Given the description of an element on the screen output the (x, y) to click on. 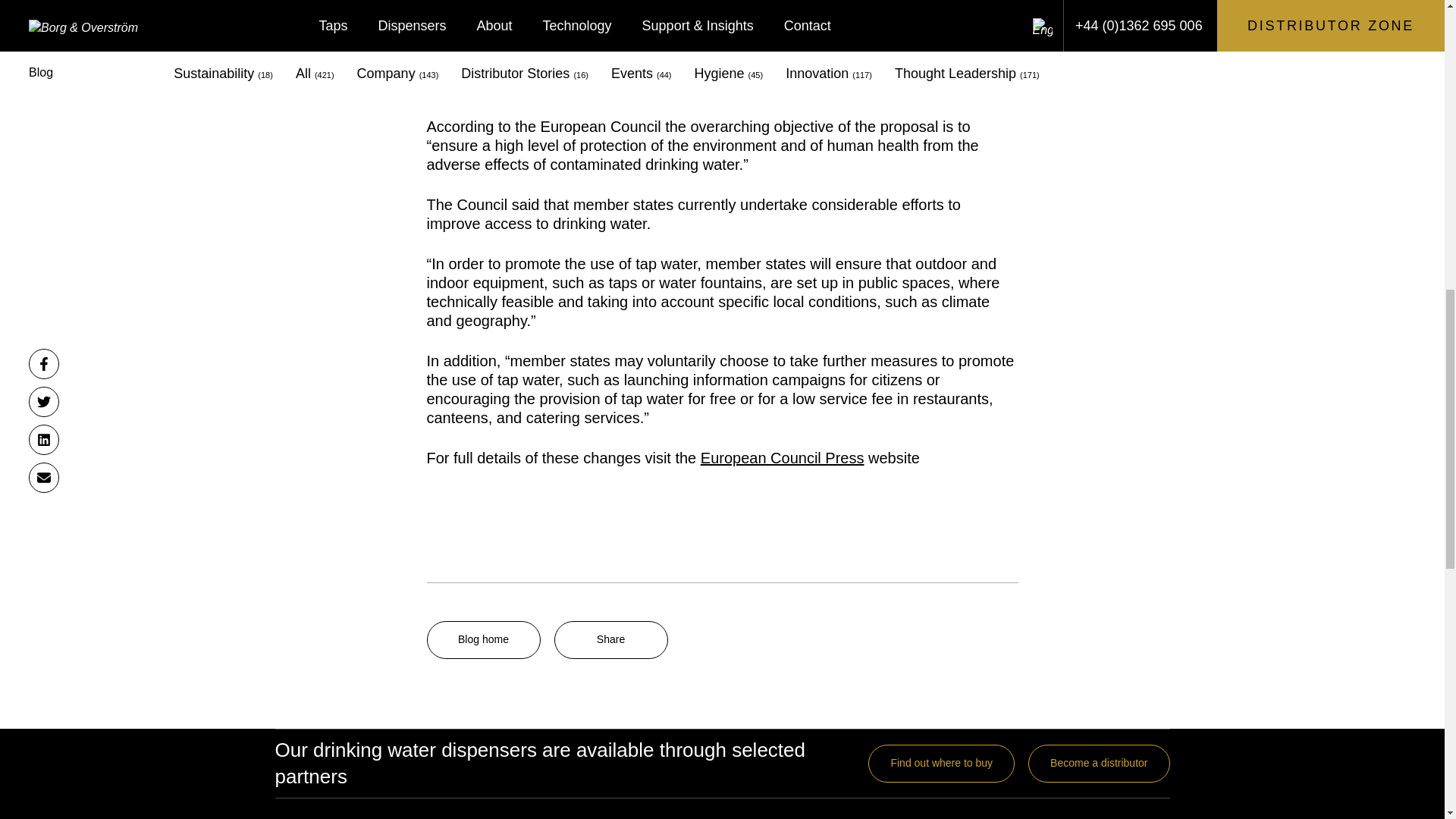
Become a distributor (1098, 763)
Find out where to buy (940, 763)
